Given the description of an element on the screen output the (x, y) to click on. 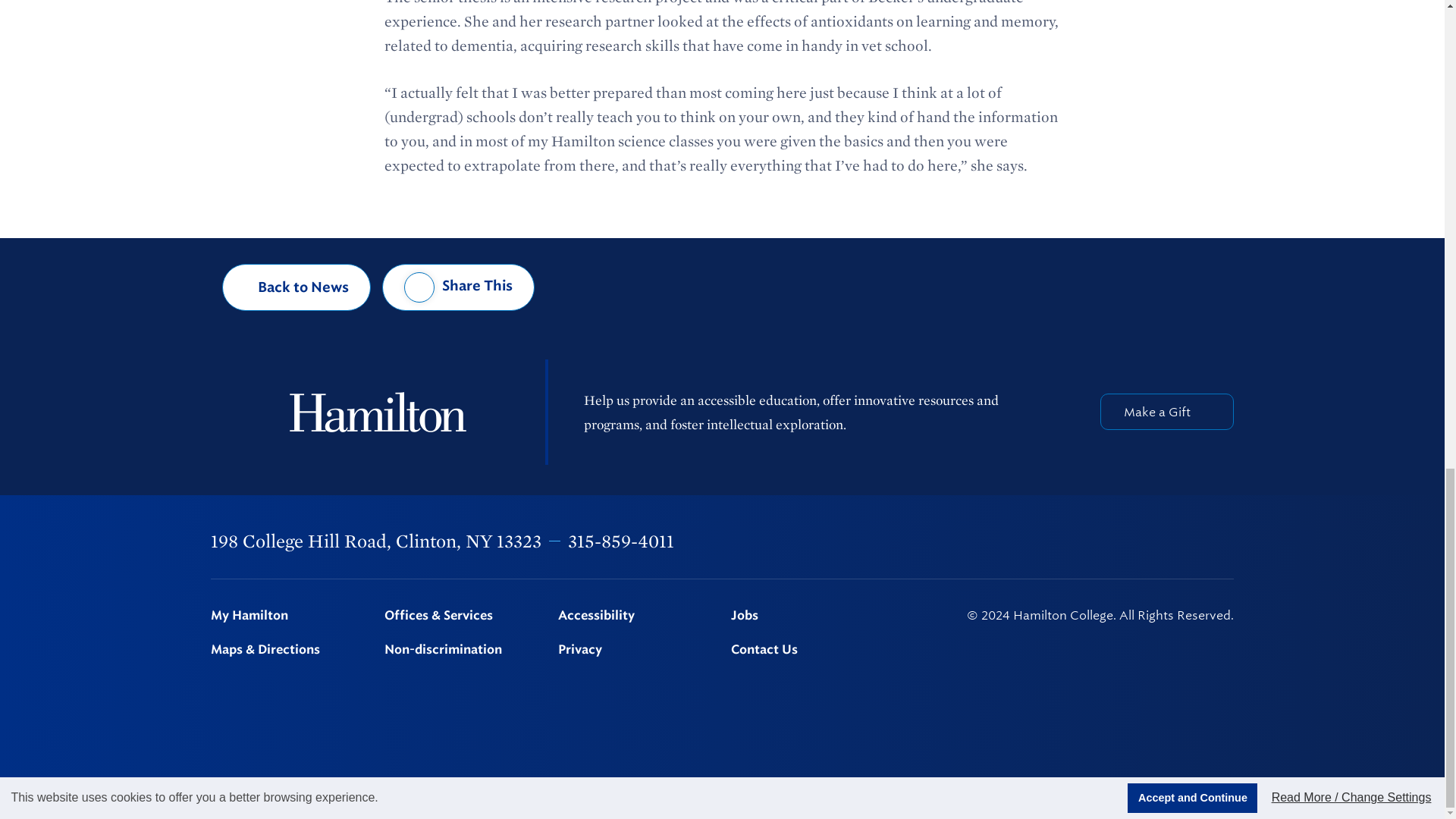
TikTok (1226, 540)
Instagram (1109, 540)
198 College Hill Road, Clinton, NY 13323 (375, 540)
Share This (457, 287)
Twitter (1069, 540)
Make a Gift (1166, 411)
Youtube (1188, 541)
Facebook (1029, 540)
Back to News (296, 287)
Linkedin (1149, 540)
